Given the description of an element on the screen output the (x, y) to click on. 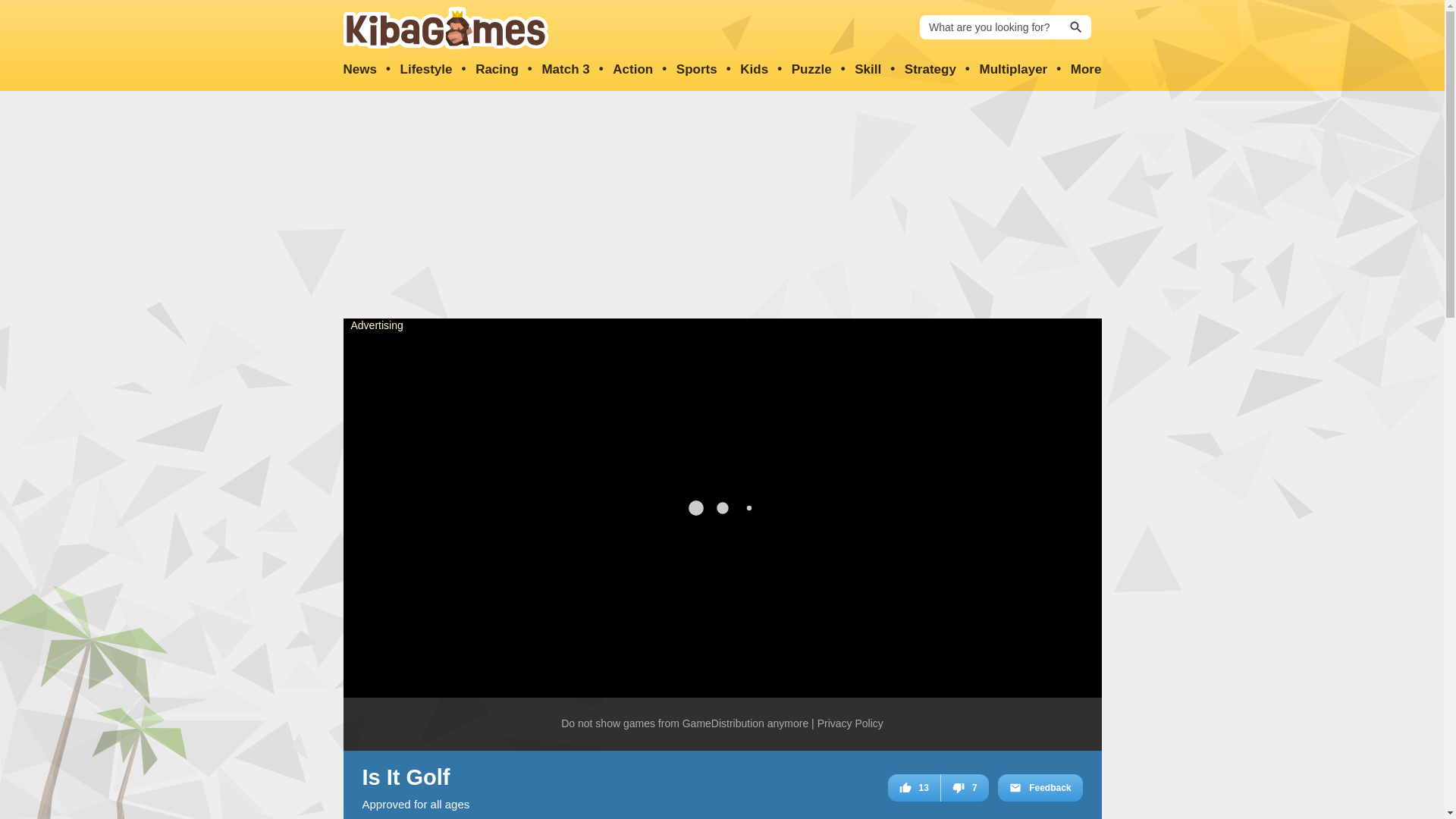
News (358, 69)
7 (964, 787)
Strategy (930, 69)
Kids (753, 69)
Do not show games from GameDistribution anymore (684, 724)
13 (914, 787)
Privacy Policy (849, 724)
Action (632, 69)
Racing (497, 69)
Puzzle (811, 69)
Match 3 (565, 69)
KibaGames (444, 27)
Lifestyle (426, 69)
More (1086, 69)
Sports (697, 69)
